Given the description of an element on the screen output the (x, y) to click on. 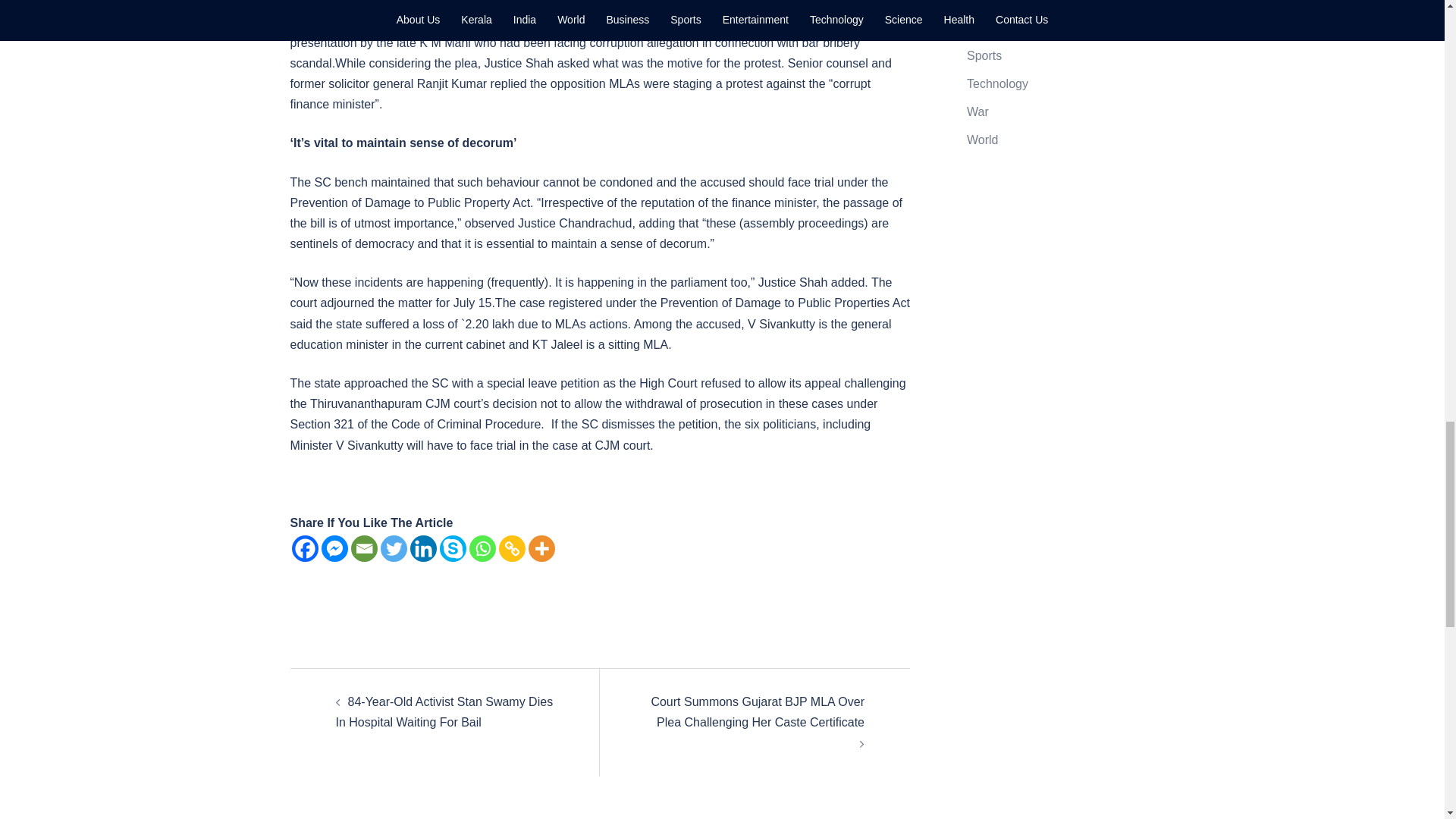
Email (363, 548)
Twitter (393, 548)
Facebook (304, 548)
Skype (452, 548)
Linkedin (422, 548)
